Given the description of an element on the screen output the (x, y) to click on. 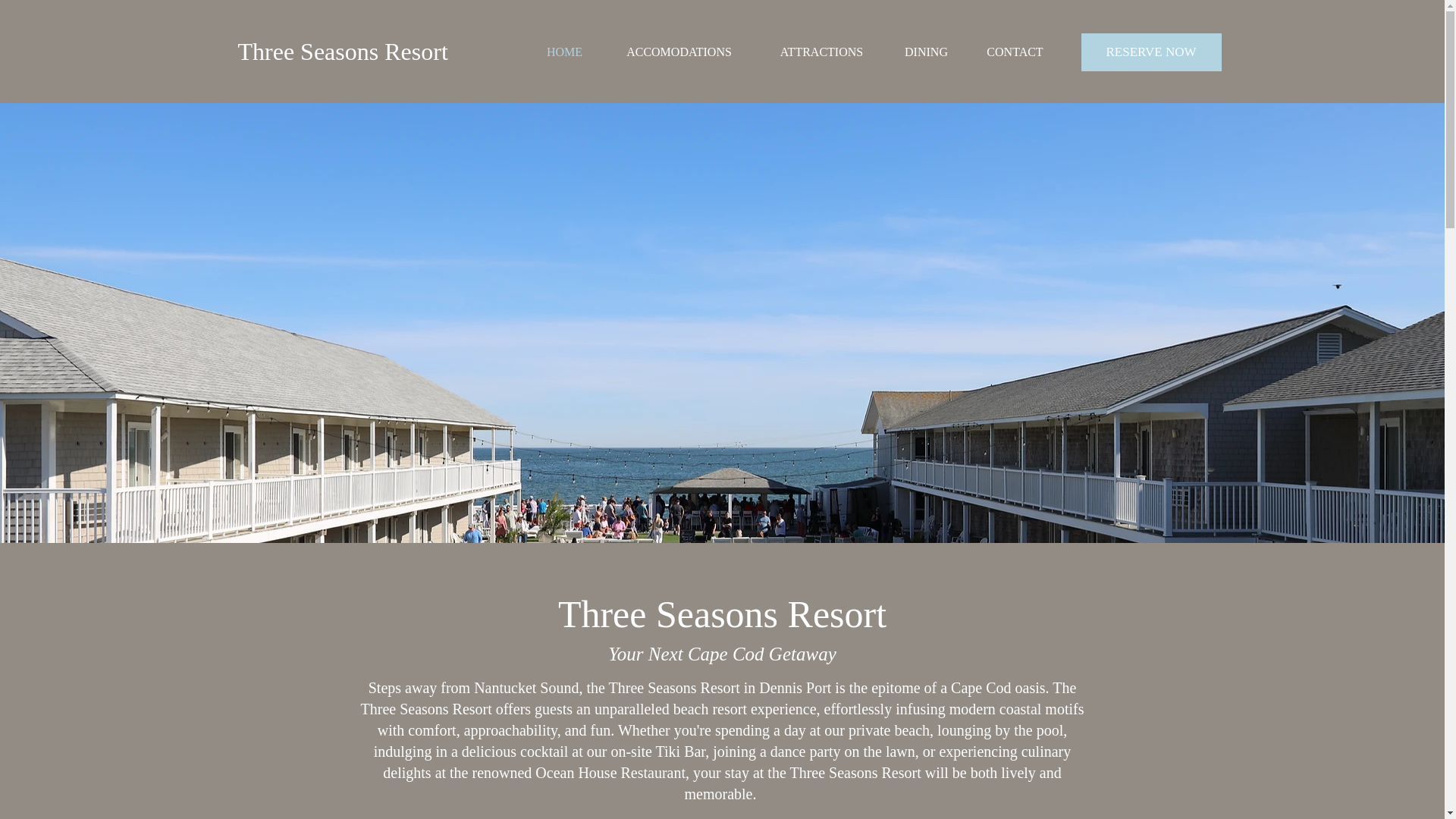
ACCOMODATIONS (678, 52)
RESERVE NOW (1151, 52)
HOME (563, 52)
CONTACT (1014, 52)
ATTRACTIONS (821, 52)
